Given the description of an element on the screen output the (x, y) to click on. 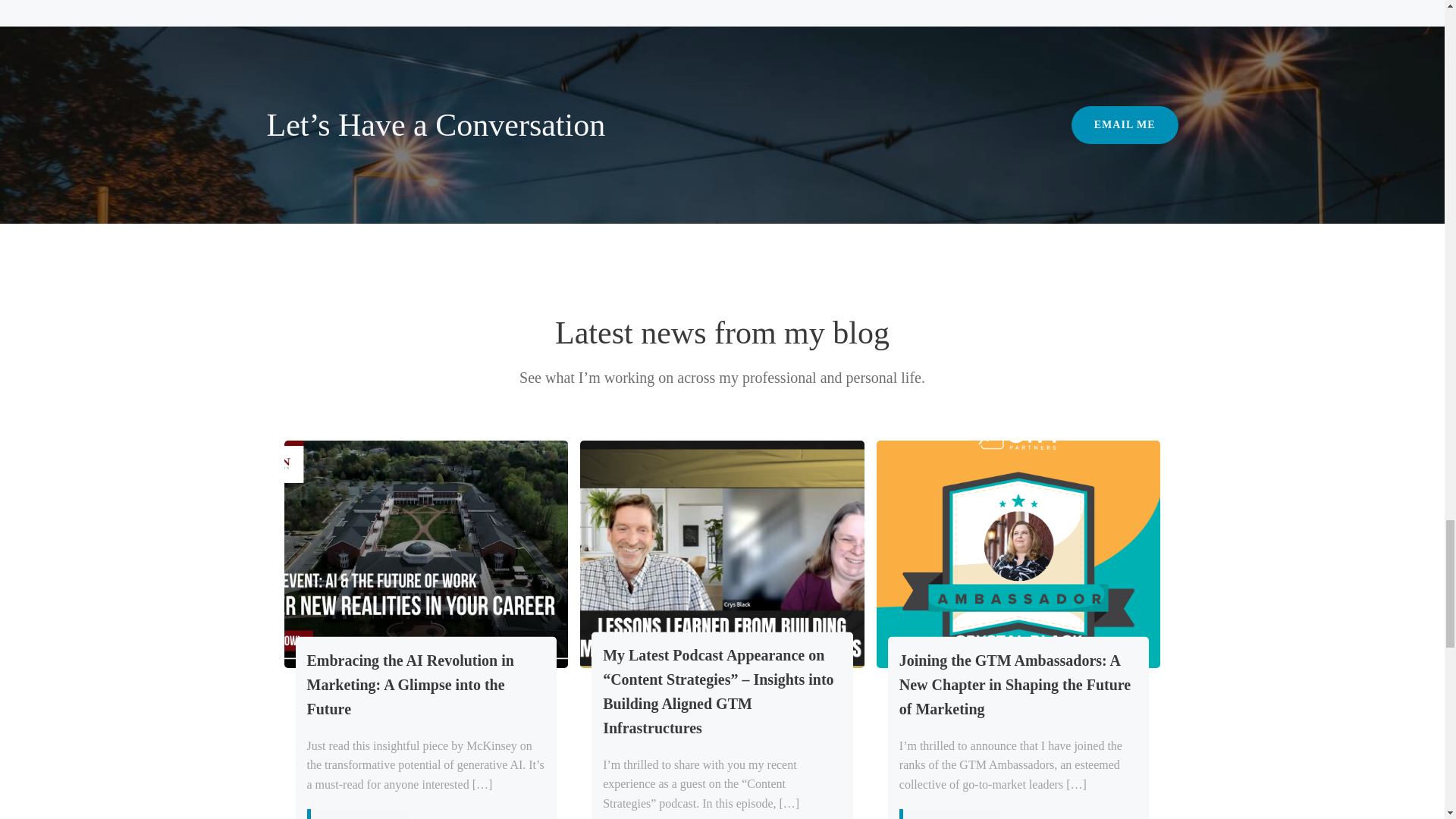
EMAIL ME (1124, 125)
read more (950, 814)
read more (357, 814)
